Given the description of an element on the screen output the (x, y) to click on. 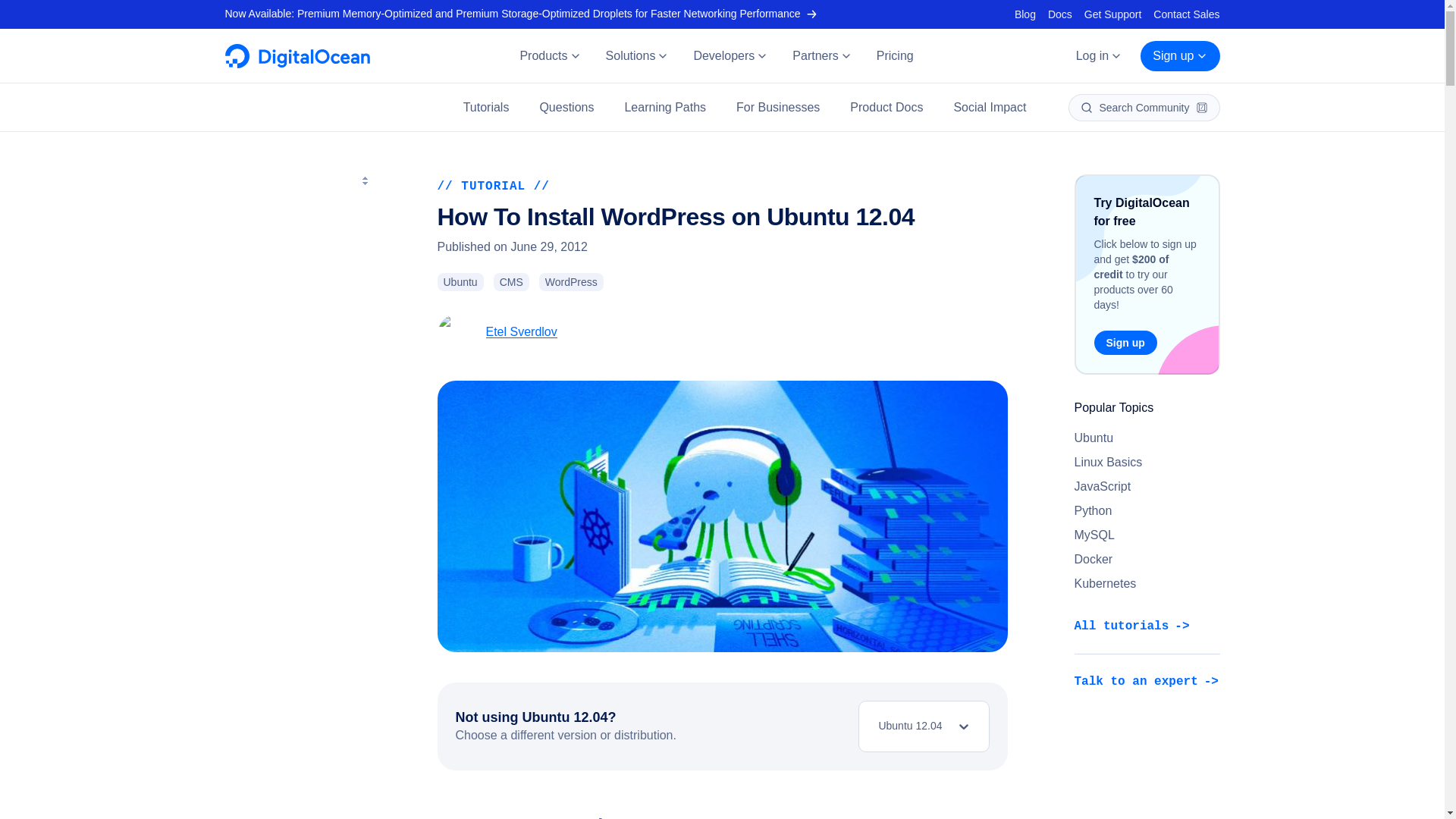
Ubuntu (459, 281)
Blog (1024, 14)
Get Support (1112, 14)
Contact Sales (1186, 14)
WordPress (571, 281)
CMS (511, 281)
Docs (1059, 14)
Products (549, 55)
DigitalOcean (296, 63)
